Given the description of an element on the screen output the (x, y) to click on. 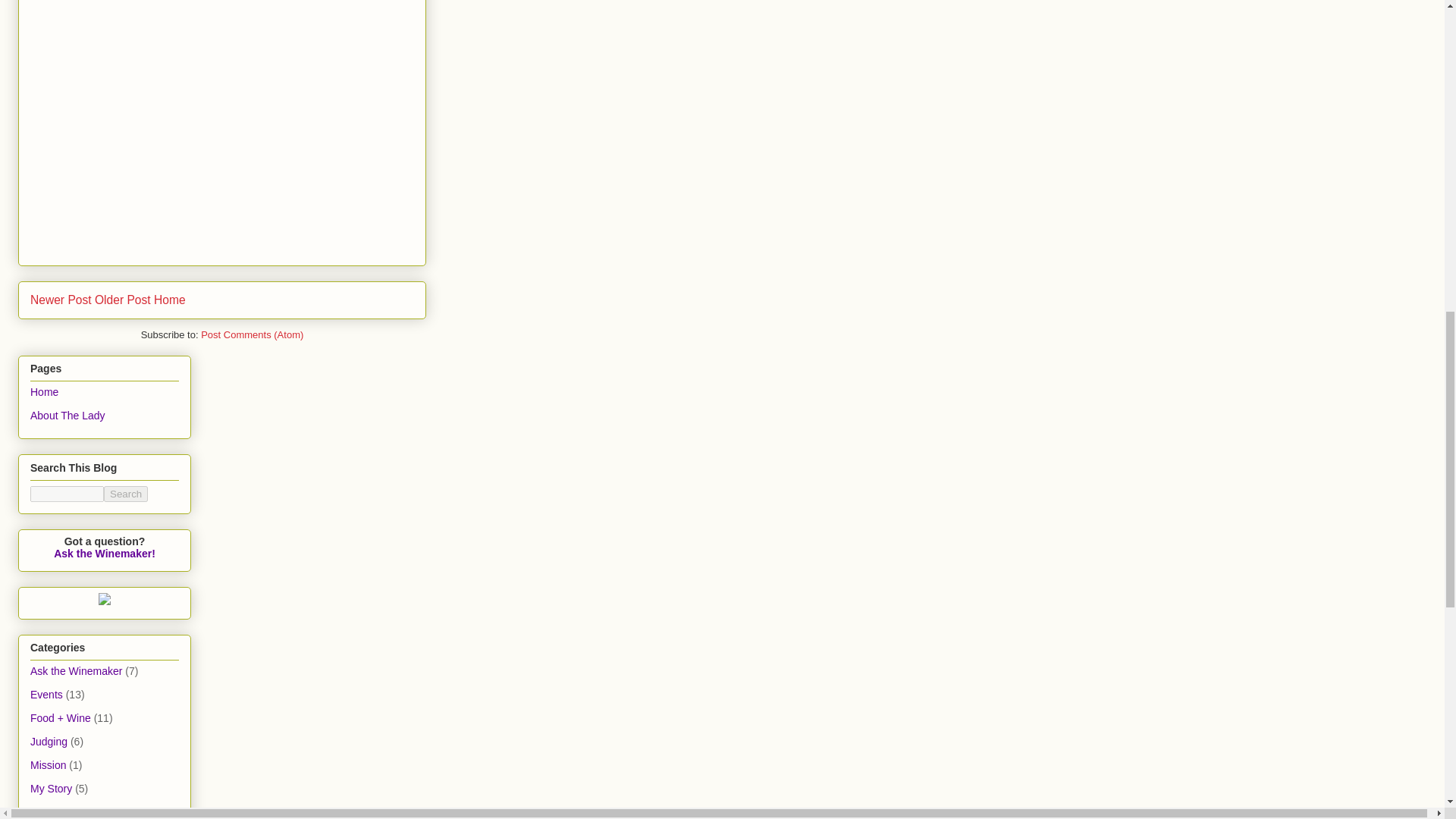
Home (170, 299)
Events (46, 694)
My Story (50, 788)
Newer Post (60, 299)
Ask the Winemaker! (104, 553)
Search (125, 494)
Older Post (122, 299)
News (43, 811)
Search (125, 494)
Ask the Winemaker (76, 671)
search (66, 494)
Older Post (122, 299)
Judging (48, 741)
About The Lady (67, 415)
Mission (47, 765)
